Given the description of an element on the screen output the (x, y) to click on. 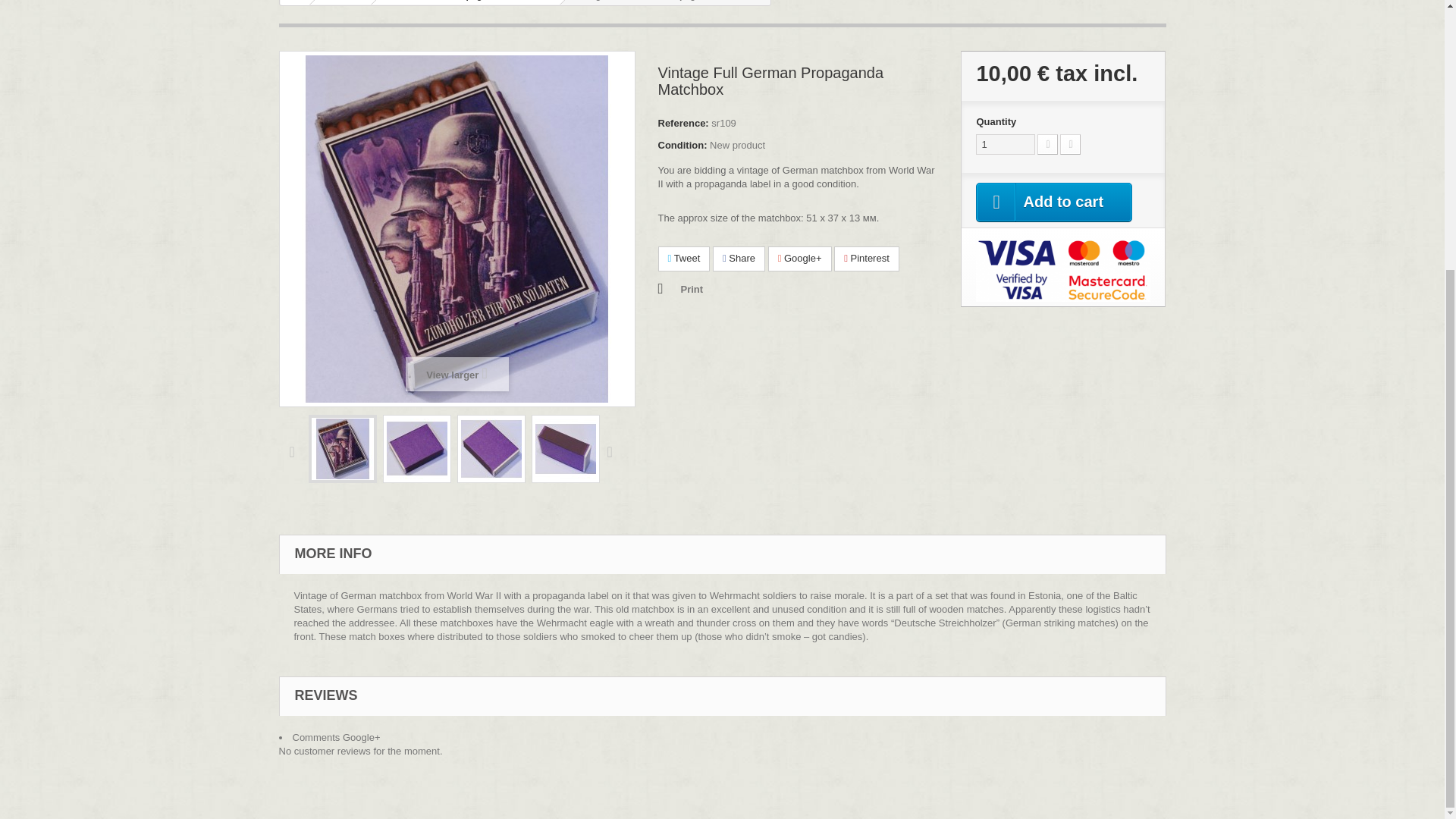
1 (1005, 144)
